Given the description of an element on the screen output the (x, y) to click on. 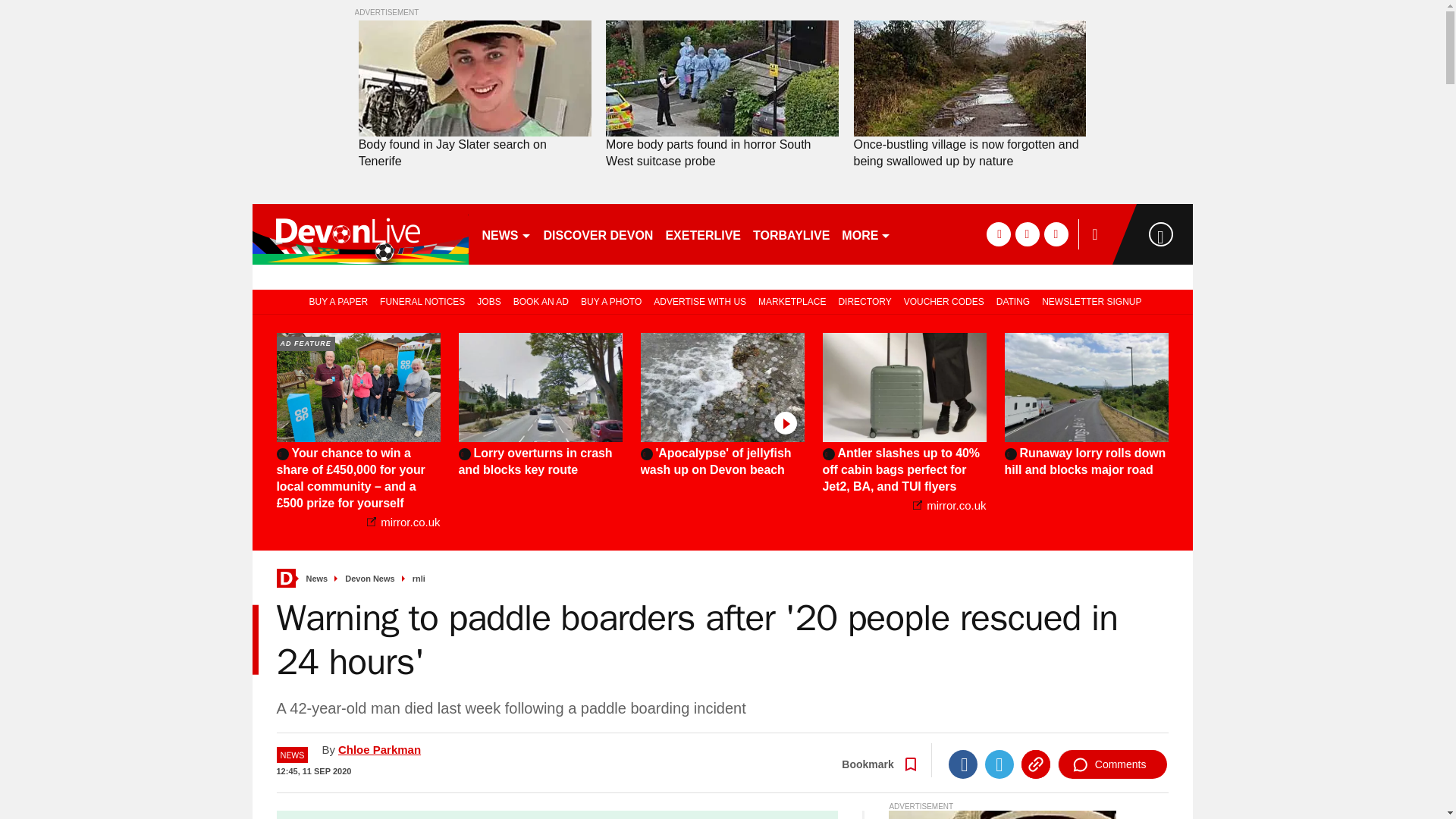
MORE (865, 233)
devonlive (359, 233)
Body found in Jay Slater search on Tenerife (474, 152)
Comments (1112, 764)
twitter (1026, 233)
More body parts found in horror South West suitcase probe (721, 152)
More body parts found in horror South West suitcase probe (721, 152)
instagram (1055, 233)
DISCOVER DEVON (598, 233)
TORBAYLIVE (790, 233)
NEWS (506, 233)
facebook (997, 233)
